Given the description of an element on the screen output the (x, y) to click on. 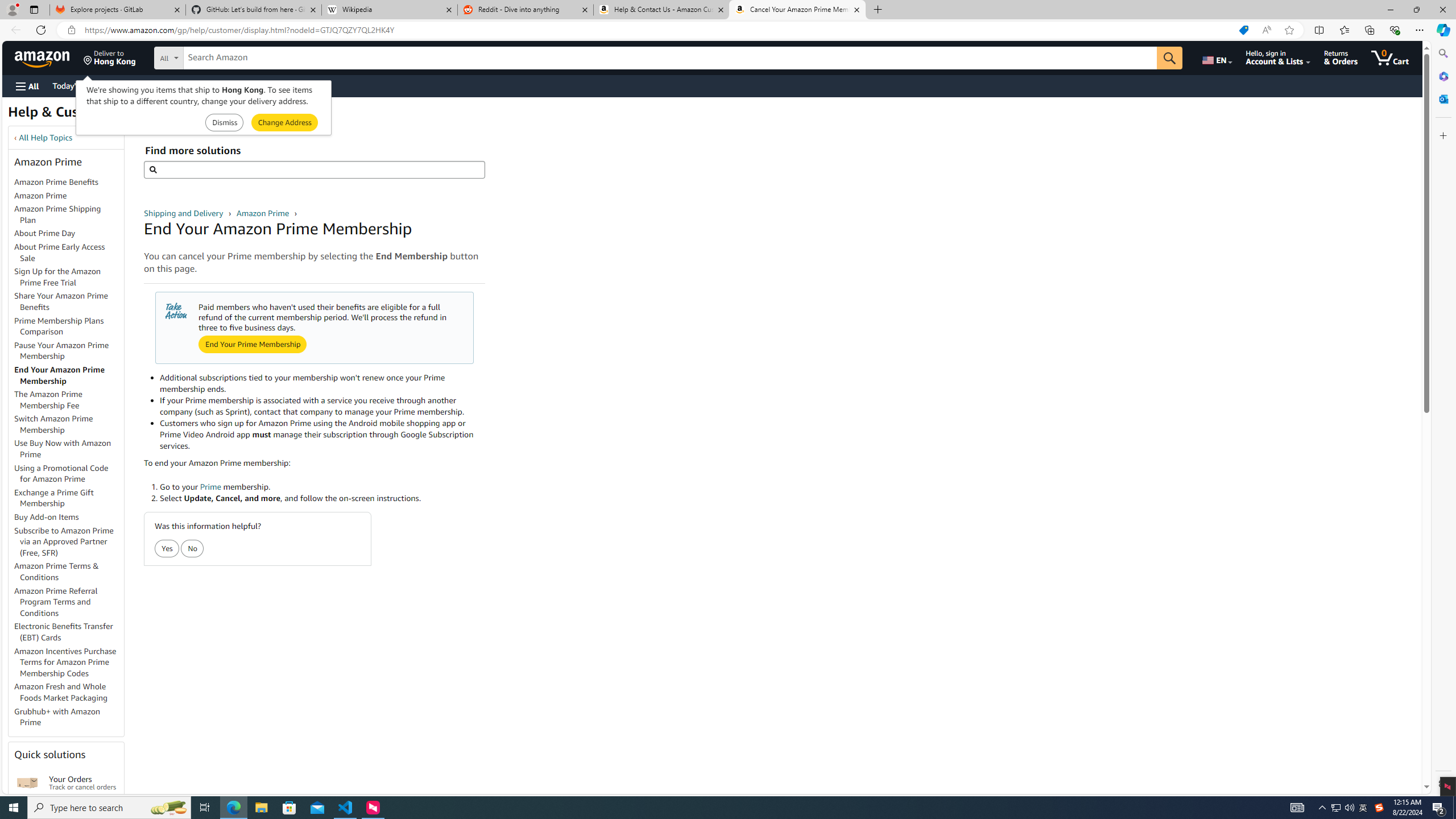
Amazon Prime Terms & Conditions (56, 571)
Amazon Prime Shipping Plan (57, 214)
Amazon Prime (40, 195)
Help & Customer Service (87, 114)
Amazon Prime Referral Program Terms and Conditions (68, 602)
About Prime Early Access Sale (59, 251)
About Prime Early Access Sale (68, 252)
The Amazon Prime Membership Fee (68, 400)
Returns & Orders (1340, 57)
